Given the description of an element on the screen output the (x, y) to click on. 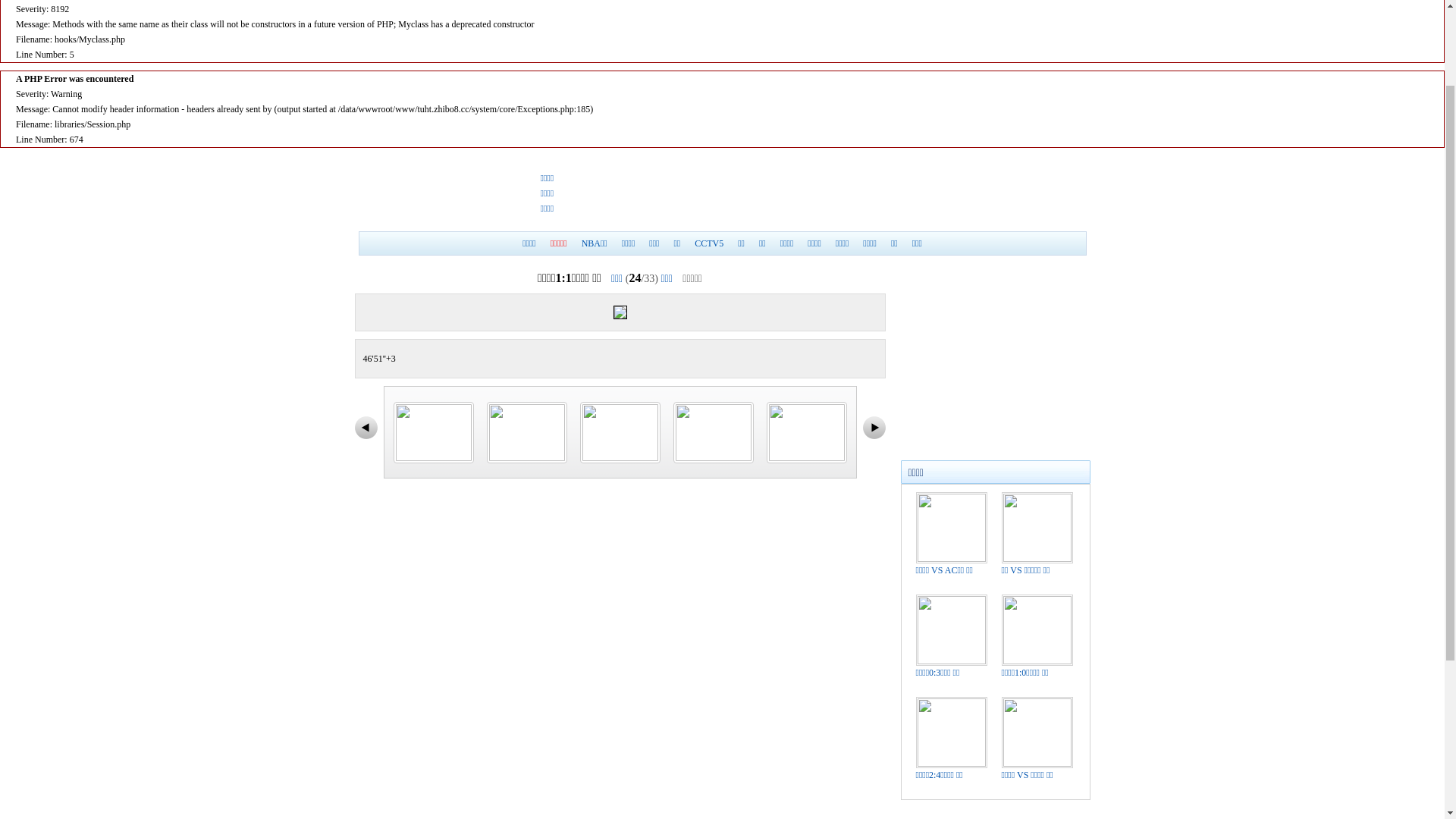
CCTV5 Element type: text (708, 349)
